Given the description of an element on the screen output the (x, y) to click on. 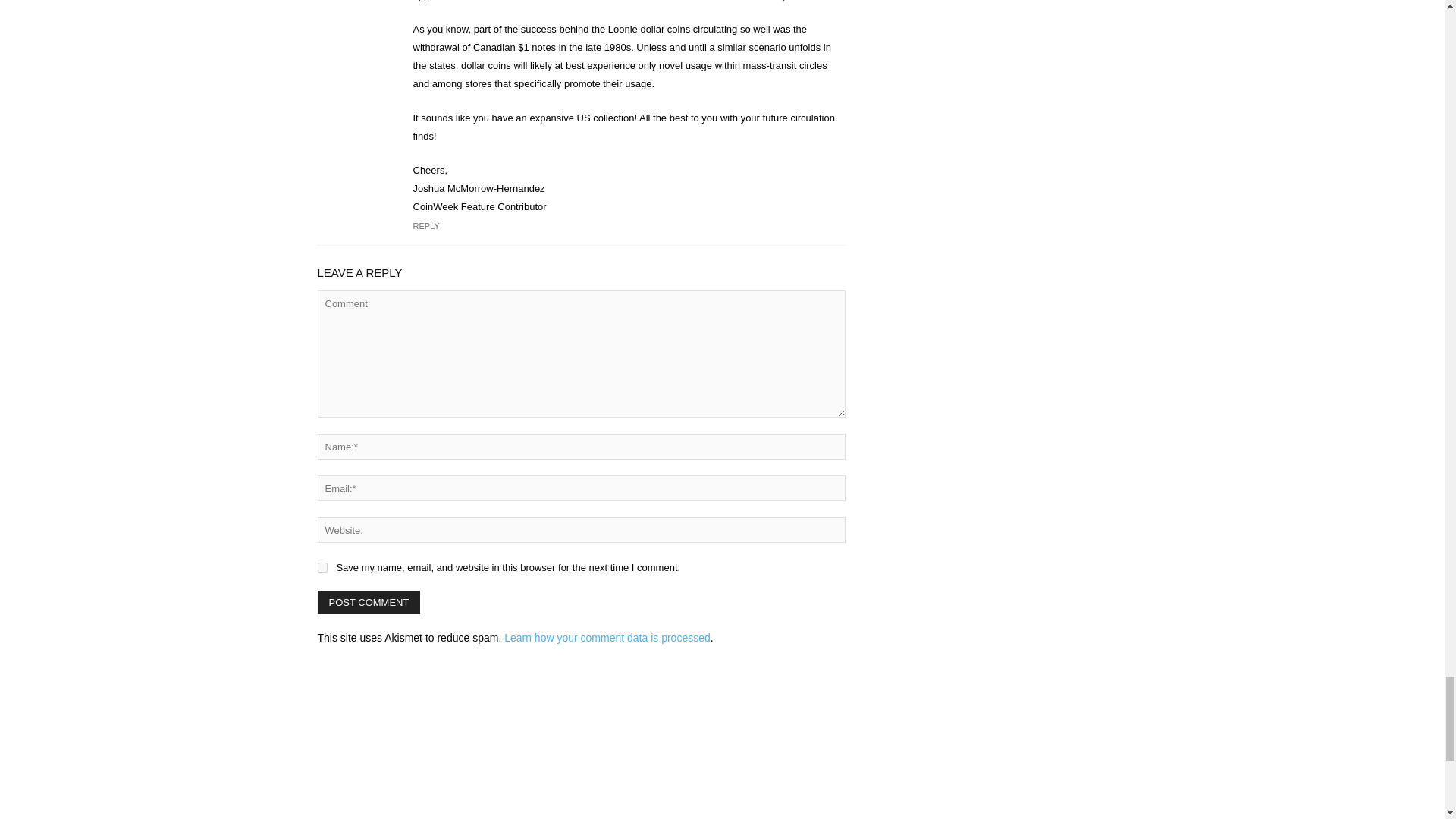
Post Comment (368, 602)
yes (321, 567)
